Given the description of an element on the screen output the (x, y) to click on. 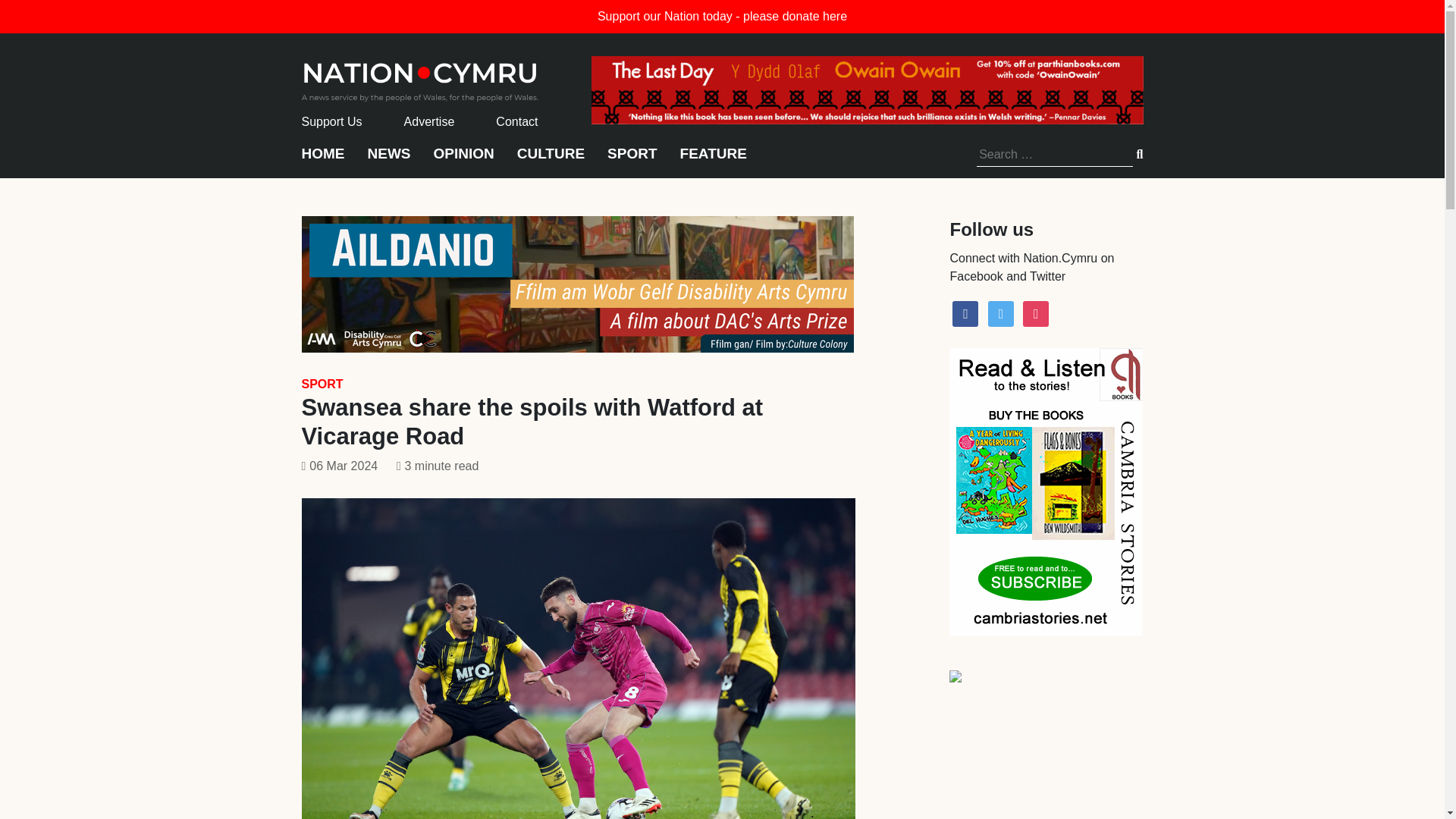
OPINION (464, 160)
home (419, 77)
NEWS (388, 160)
FEATURE (712, 160)
Contact (516, 121)
SPORT (631, 160)
Advertise (429, 121)
HOME (323, 160)
CULTURE (550, 160)
SPORT (322, 383)
Support Us (331, 121)
